Given the description of an element on the screen output the (x, y) to click on. 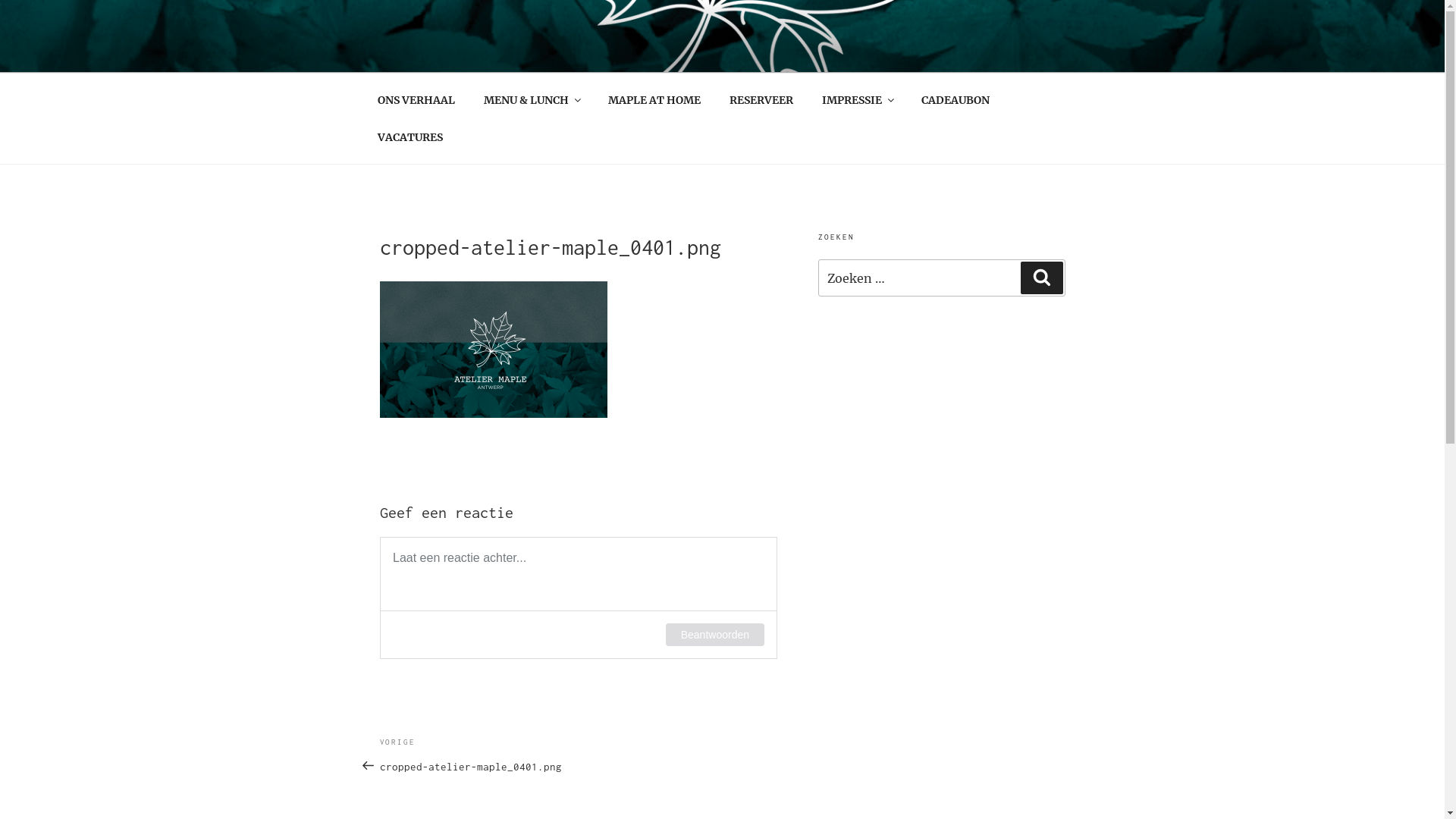
IMPRESSIE Element type: text (856, 100)
Reactieformulier Element type: hover (577, 597)
CADEAUBON Element type: text (955, 100)
Zoeken Element type: text (1041, 277)
RESERVEER Element type: text (760, 100)
ONS VERHAAL Element type: text (415, 100)
VACATURES Element type: text (409, 136)
Vorig bericht
VORIGE
cropped-atelier-maple_0401.png Element type: text (478, 755)
MAPLE AT HOME Element type: text (653, 100)
ATELIER MAPLE Element type: text (481, 52)
MENU & LUNCH Element type: text (531, 100)
